Given the description of an element on the screen output the (x, y) to click on. 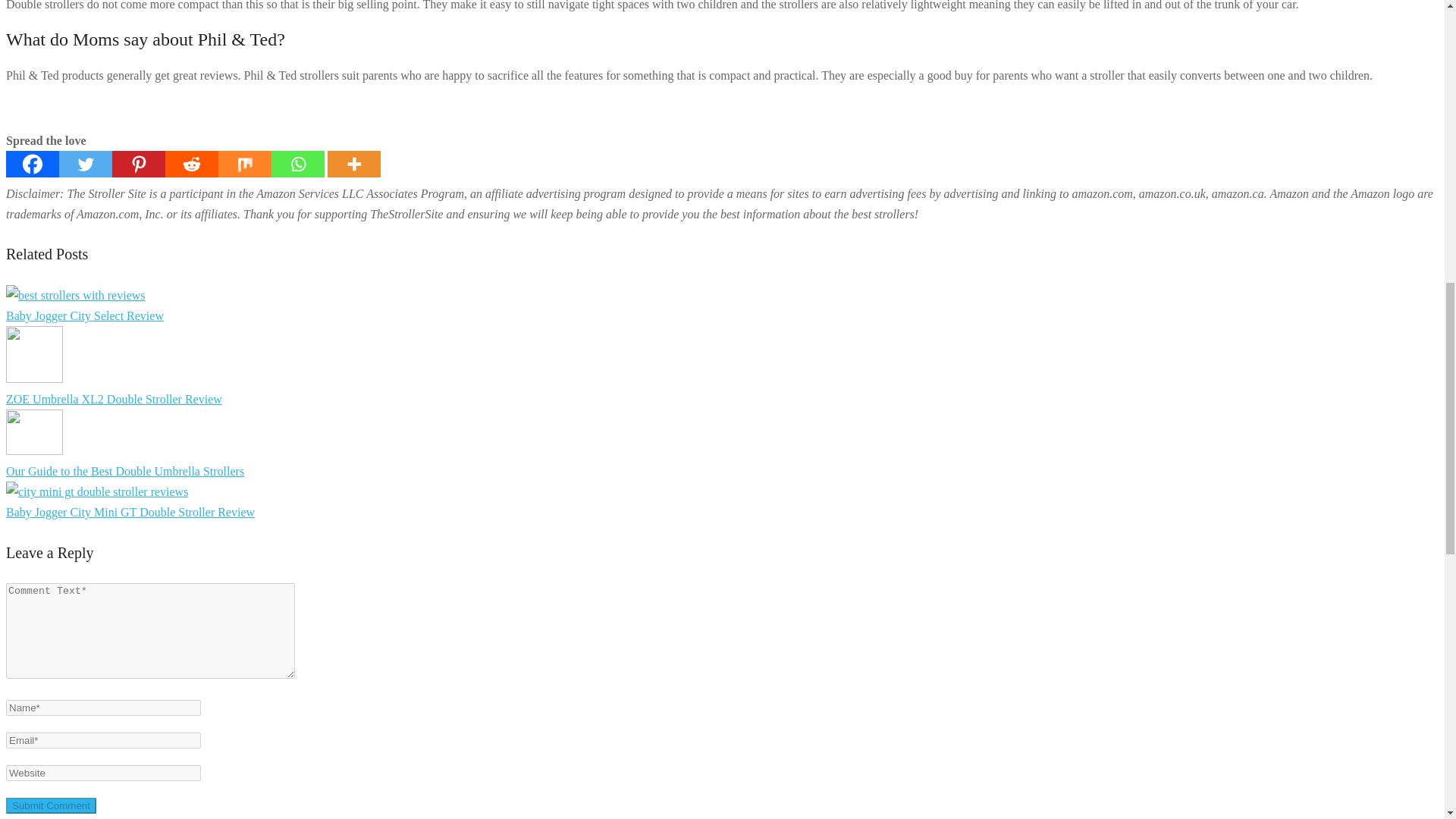
Baby Jogger City Select Review (84, 315)
Mix (244, 163)
Whatsapp (297, 163)
ZOE Umbrella XL2 Double Stroller Review (113, 399)
Facebook (32, 163)
Pinterest (138, 163)
Total Shares (419, 163)
Our Guide to the Best Double Umbrella Strollers (124, 471)
Baby Jogger City Mini GT Double Stroller Review (129, 512)
Reddit (191, 163)
